Given the description of an element on the screen output the (x, y) to click on. 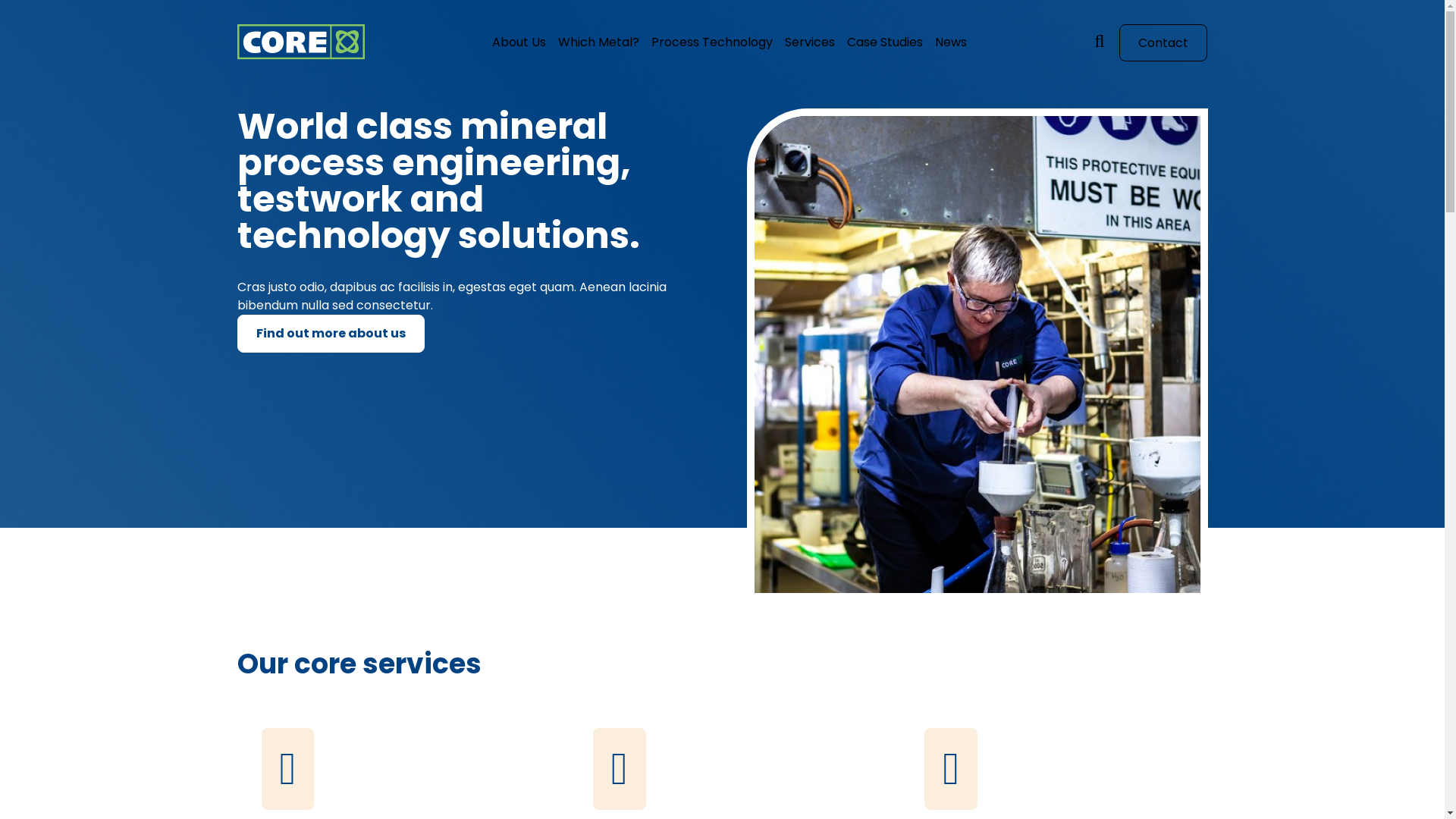
News Element type: text (950, 41)
Which Metal? Element type: text (598, 41)
Find out more about us Element type: text (329, 333)
Process Technology Element type: text (711, 41)
Contact Element type: text (1163, 42)
Services Element type: text (809, 41)
About Us Element type: text (519, 41)
Case Studies Element type: text (884, 41)
